Given the description of an element on the screen output the (x, y) to click on. 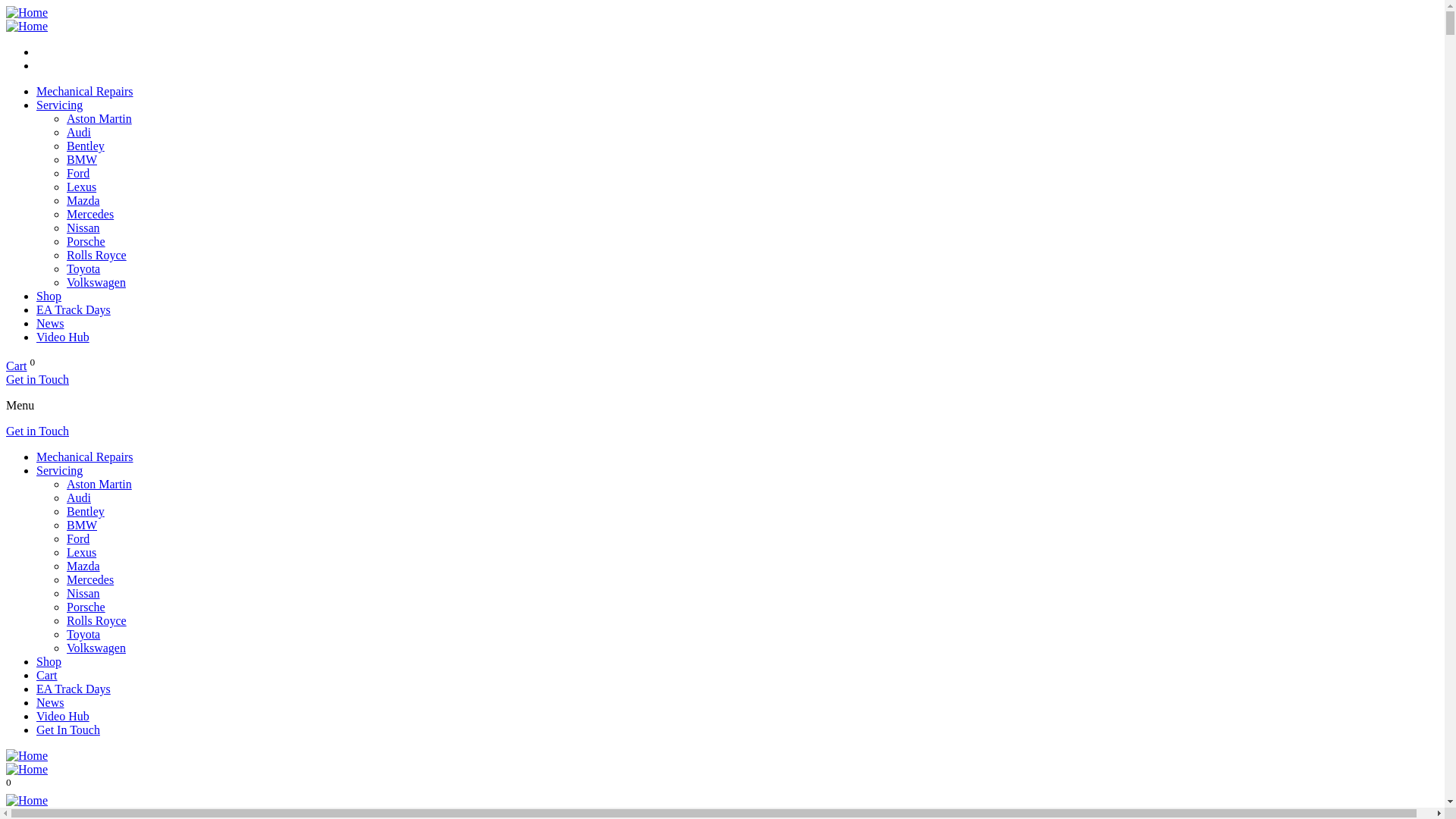
Ford Element type: text (77, 172)
Audi Element type: text (78, 497)
Nissan Element type: text (83, 227)
Audi Element type: text (78, 131)
Get In Touch Element type: text (68, 729)
E A Performance Logo EPS-01-White Element type: hover (26, 26)
Mechanical Repairs Element type: text (84, 90)
EA Black Element type: hover (26, 800)
Cart Element type: text (16, 365)
Nissan Element type: text (83, 592)
Rolls Royce Element type: text (96, 254)
Rolls Royce Element type: text (96, 620)
News Element type: text (49, 702)
Mercedes Element type: text (89, 579)
Get in Touch Element type: text (37, 379)
BMW Element type: text (81, 159)
BMW Element type: text (81, 524)
Aston Martin Element type: text (98, 118)
EA Track Days Element type: text (73, 309)
Mazda Element type: text (83, 200)
Porsche Element type: text (85, 606)
E A Performance Logo EPS-01-Black Element type: hover (26, 12)
Lexus Element type: text (81, 552)
Shop Element type: text (48, 295)
Mazda Element type: text (83, 565)
Ford Element type: text (77, 538)
Mechanical Repairs Element type: text (84, 456)
Bentley Element type: text (85, 145)
Lexus Element type: text (81, 186)
E A Performance Logo EPS-01-White Element type: hover (26, 769)
Toyota Element type: text (83, 633)
Aston Martin Element type: text (98, 483)
E A Performance Logo EPS-01-Black Element type: hover (26, 755)
Servicing Element type: text (59, 470)
Shop Element type: text (48, 661)
Volkswagen Element type: text (95, 282)
Mercedes Element type: text (89, 213)
Volkswagen Element type: text (95, 647)
Bentley Element type: text (85, 511)
Porsche Element type: text (85, 241)
Servicing Element type: text (59, 104)
Video Hub Element type: text (62, 715)
Get in Touch Element type: text (37, 430)
Video Hub Element type: text (62, 336)
News Element type: text (49, 322)
EA Track Days Element type: text (73, 688)
Cart Element type: text (46, 674)
Toyota Element type: text (83, 268)
